Given the description of an element on the screen output the (x, y) to click on. 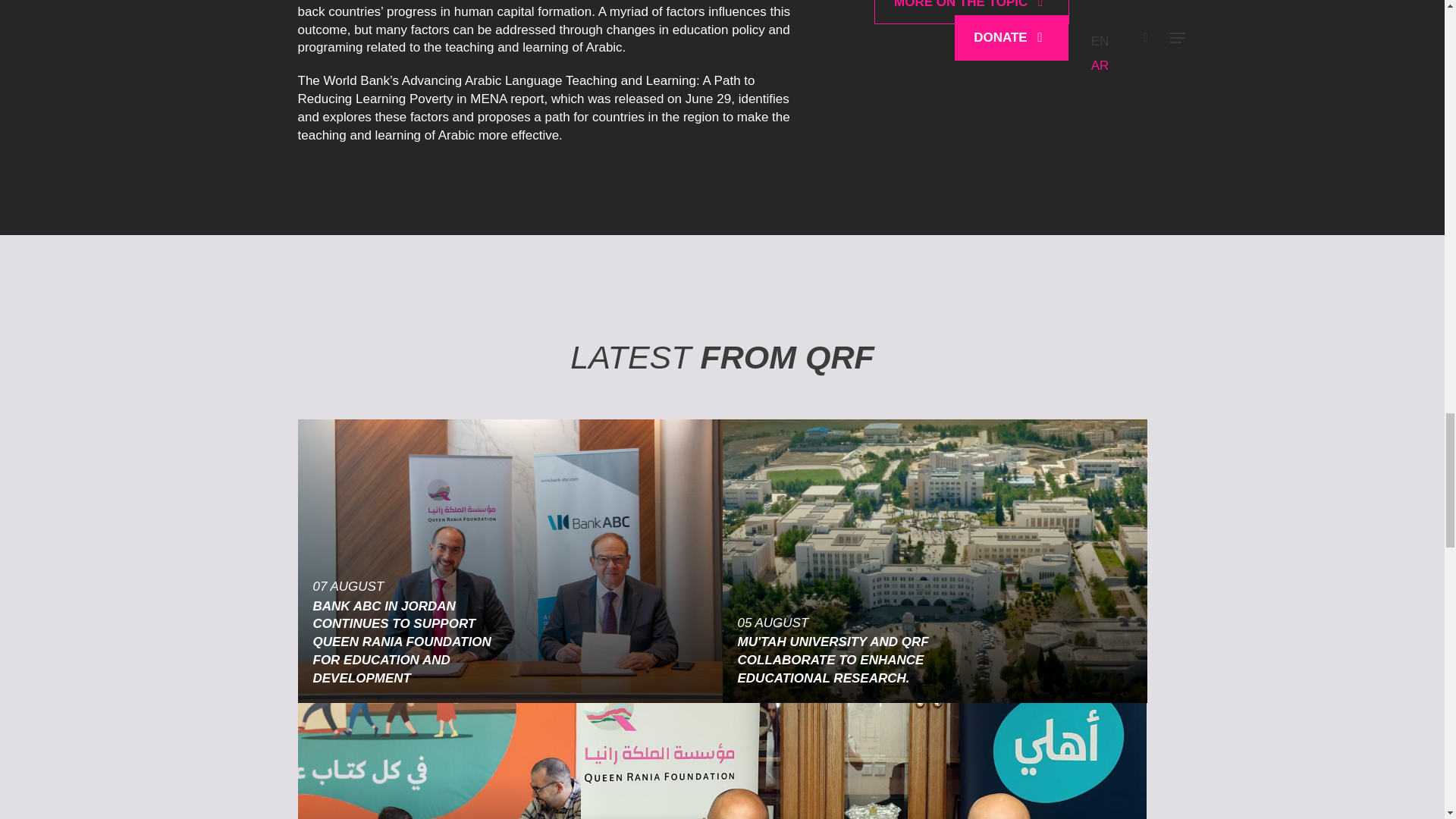
MORE ON THE TOPIC (972, 12)
